Given the description of an element on the screen output the (x, y) to click on. 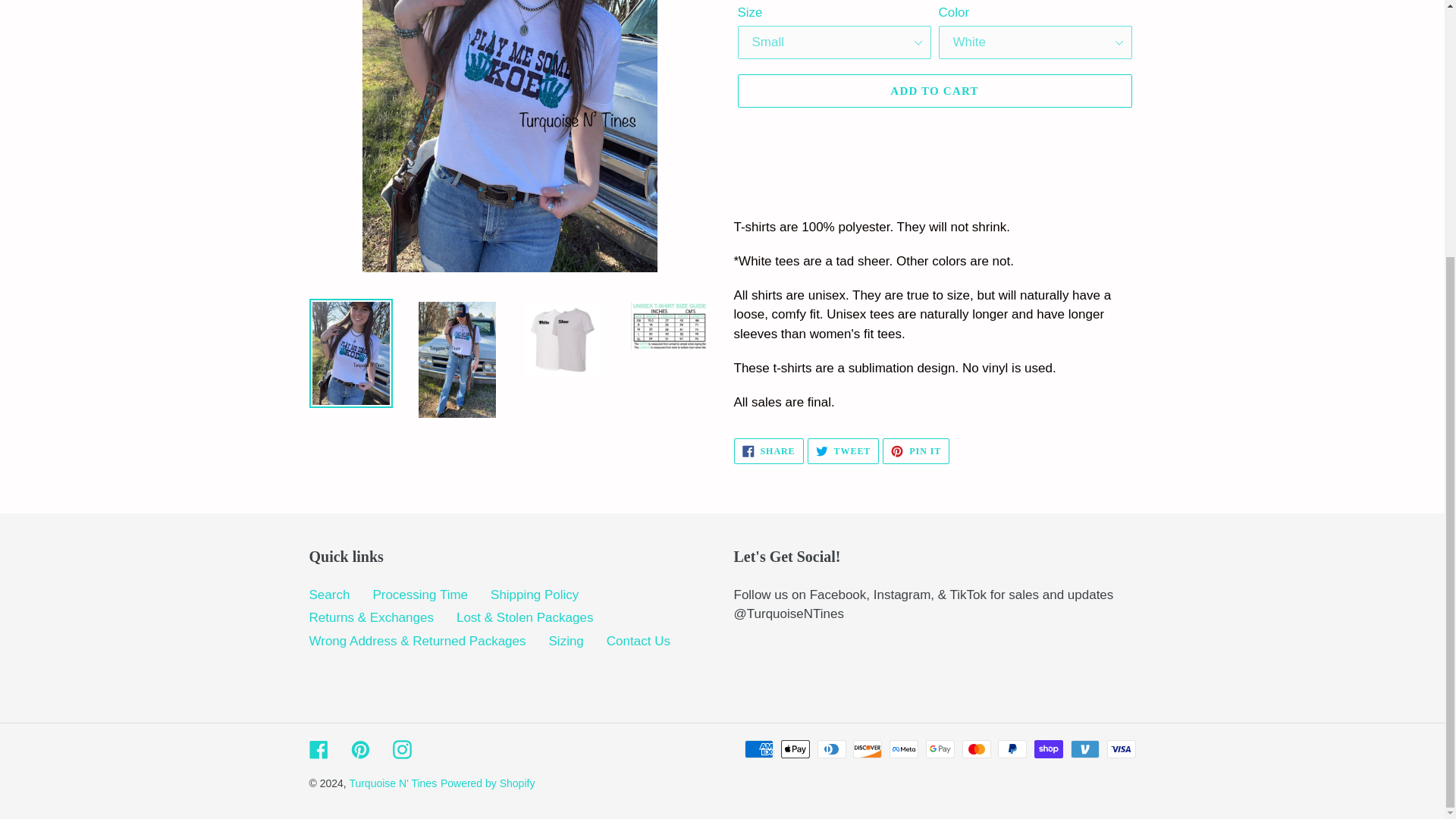
ADD TO CART (933, 90)
Shipping Policy (534, 594)
Search (915, 451)
Processing Time (329, 594)
